Given the description of an element on the screen output the (x, y) to click on. 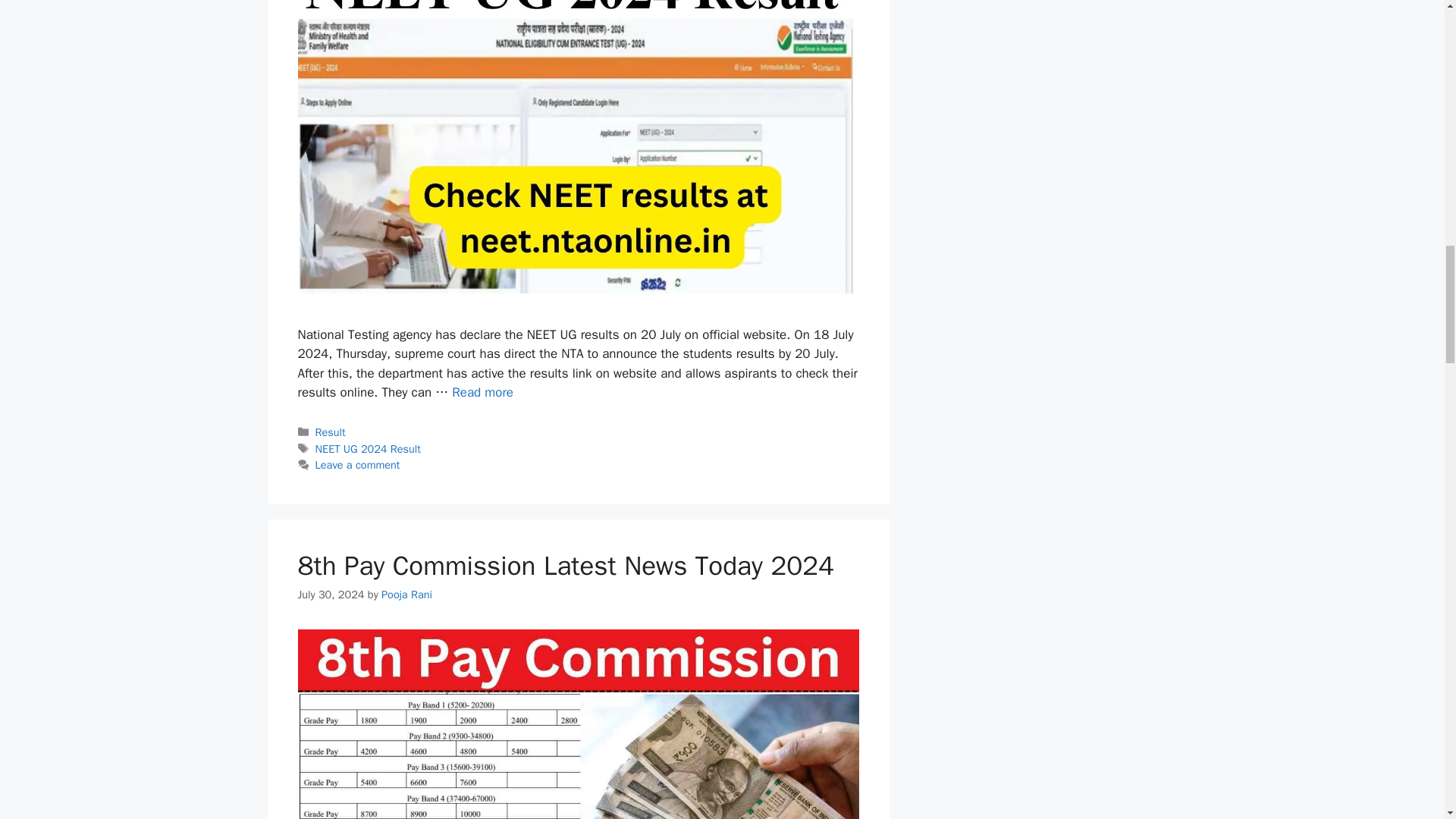
Result (330, 431)
NEET UG 2024 Result (367, 448)
Read more (482, 392)
Leave a comment (357, 464)
8th Pay Commission Latest News Today 2024 (565, 565)
Pooja Rani (406, 594)
View all posts by Pooja Rani (406, 594)
